Given the description of an element on the screen output the (x, y) to click on. 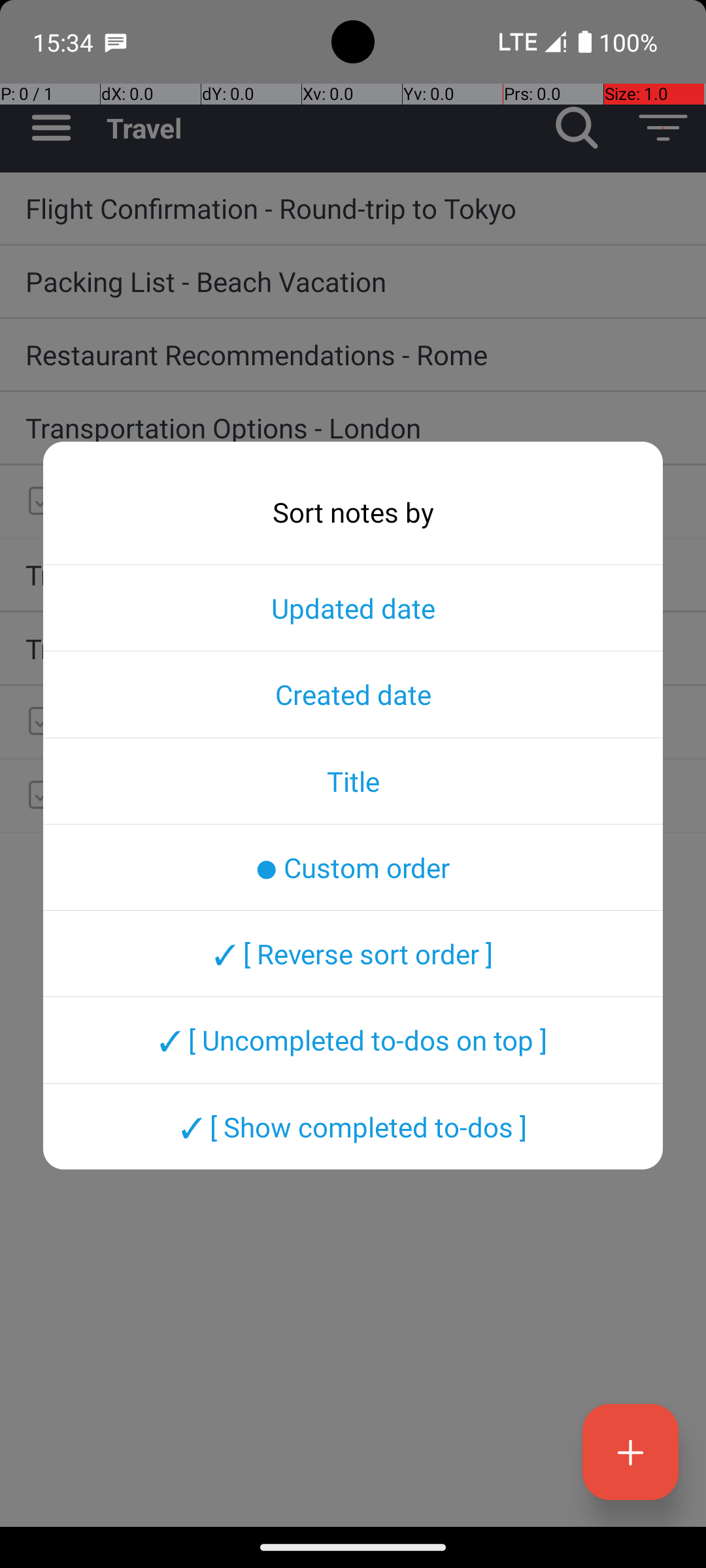
Updated date Element type: android.widget.TextView (352, 607)
Created date Element type: android.widget.TextView (352, 693)
⬤ Custom order Element type: android.widget.TextView (352, 866)
✓ [ Reverse sort order ] Element type: android.widget.TextView (352, 953)
✓ [ Uncompleted to-dos on top ] Element type: android.widget.TextView (352, 1039)
✓ [ Show completed to-dos ] Element type: android.widget.TextView (352, 1126)
Flight Confirmation - Round-trip to Tokyo Element type: android.widget.TextView (352, 207)
Packing List - Beach Vacation Element type: android.widget.TextView (352, 280)
Transportation Options - London Element type: android.widget.TextView (352, 427)
to-do: Travel Apps and Websites Element type: android.widget.CheckBox (38, 501)
Travel Apps and Websites Element type: android.widget.TextView (378, 499)
Travel Insurance Information Element type: android.widget.TextView (352, 574)
to-do: Travel Journal - Road Trip Across America Element type: android.widget.CheckBox (38, 722)
Travel Journal - Road Trip Across America Element type: android.widget.TextView (378, 719)
to-do: Hotel Reviews - Paris Element type: android.widget.CheckBox (38, 795)
Hotel Reviews - Paris Element type: android.widget.TextView (378, 793)
